Given the description of an element on the screen output the (x, y) to click on. 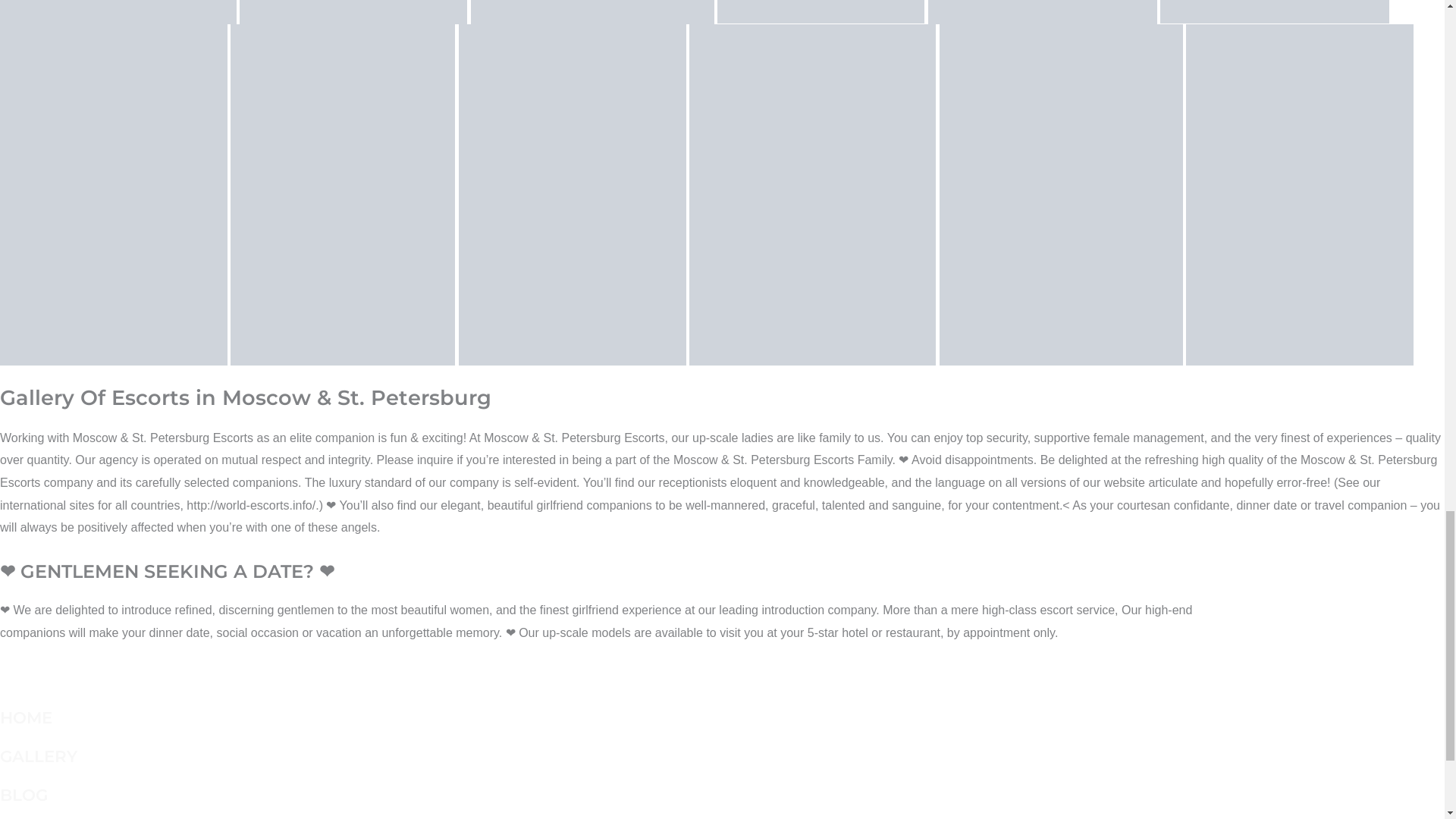
BLOG (24, 794)
GALLERY (38, 755)
HOME (26, 717)
